Given the description of an element on the screen output the (x, y) to click on. 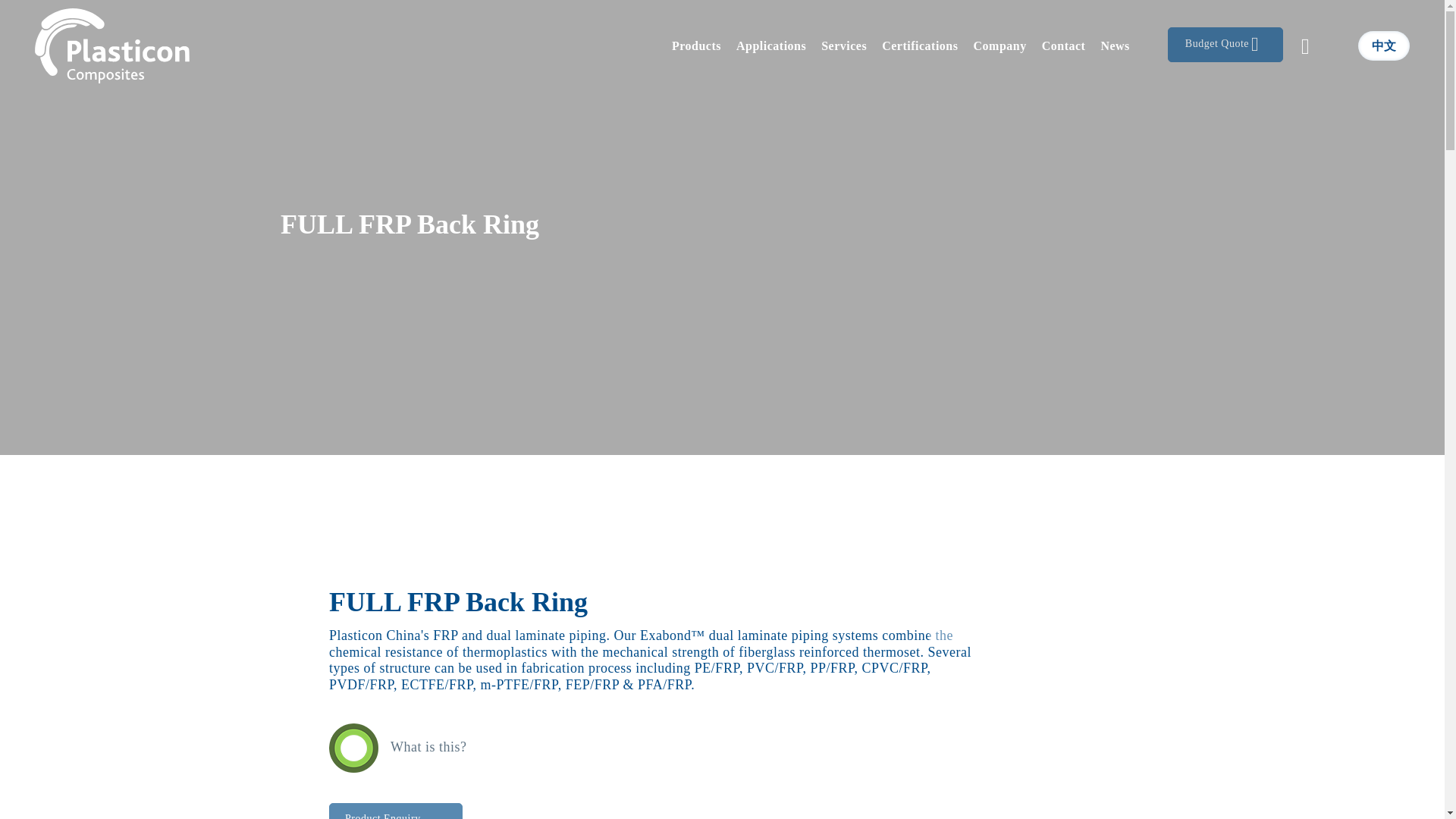
Services (844, 45)
Contact (1063, 45)
Products (696, 45)
Certifications (920, 45)
Product Enquiry (396, 811)
Company (999, 45)
News (1115, 45)
Website White Logo Plasticon China (111, 45)
Product Enquiry (395, 816)
Budget Quote (1219, 44)
Budget Quote (1224, 44)
Applications (771, 45)
What is this? (397, 748)
